Given the description of an element on the screen output the (x, y) to click on. 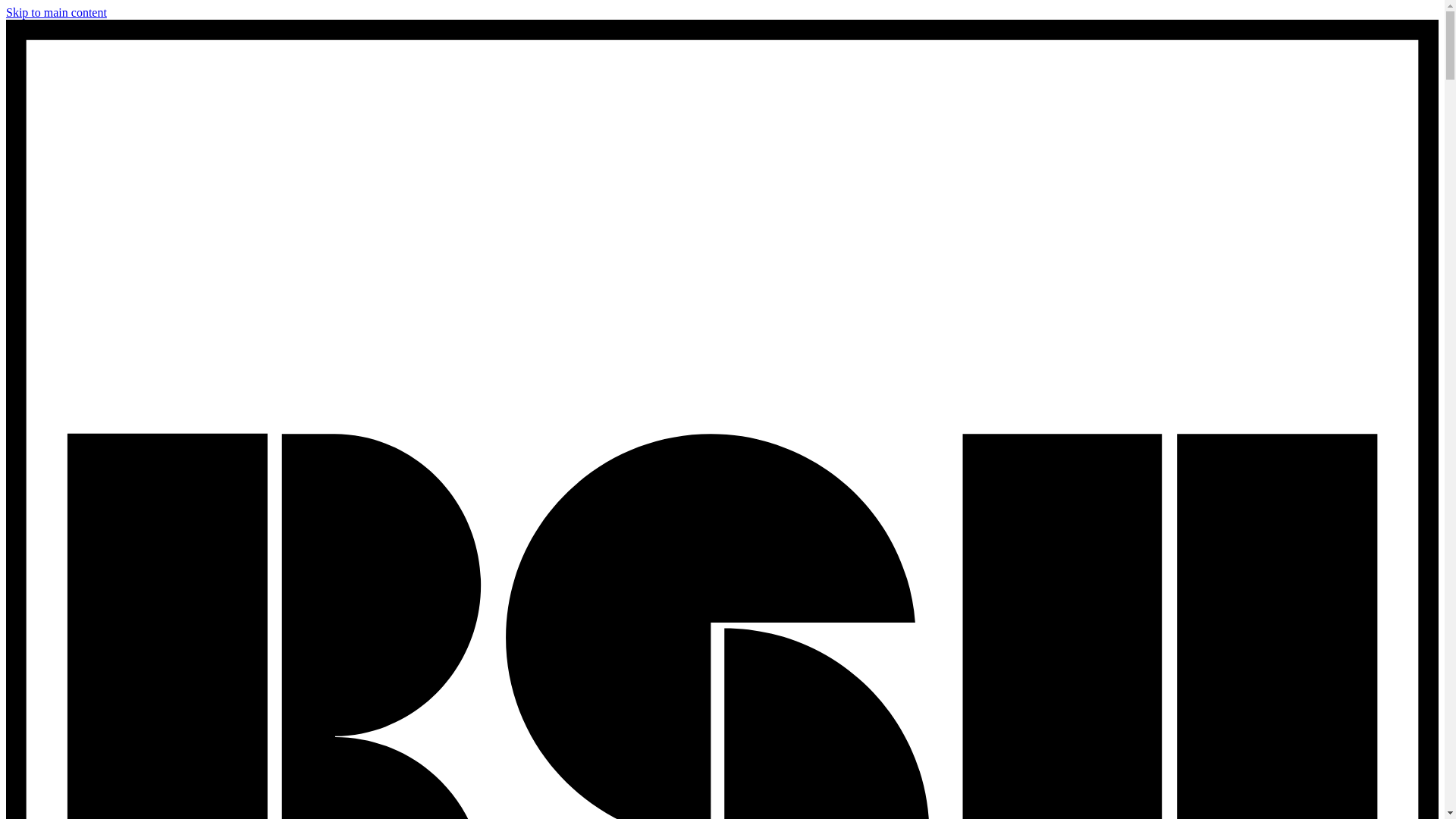
Skip to main content (55, 11)
